Given the description of an element on the screen output the (x, y) to click on. 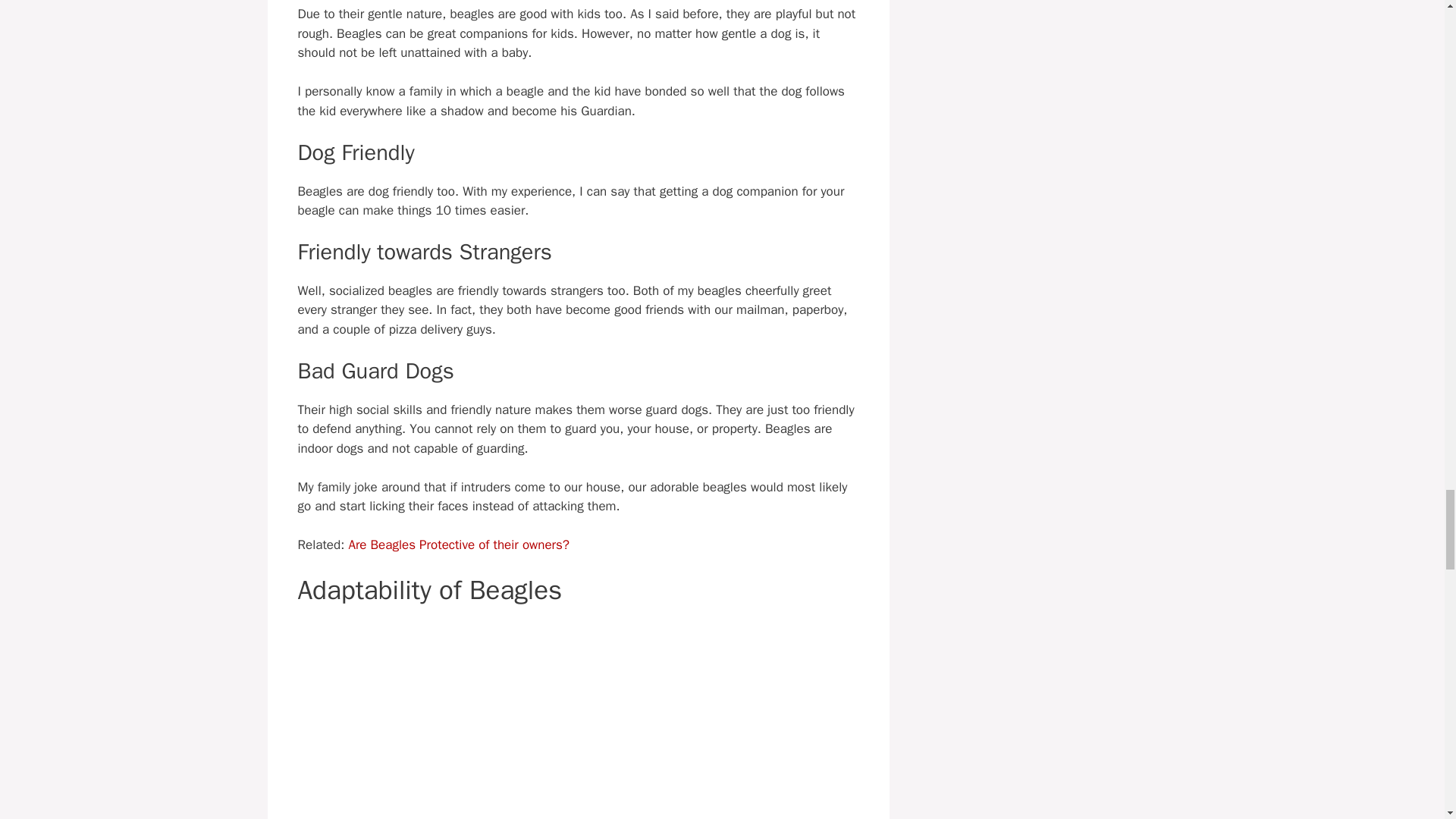
Are Beagles Protective of their owners? (458, 544)
